Given the description of an element on the screen output the (x, y) to click on. 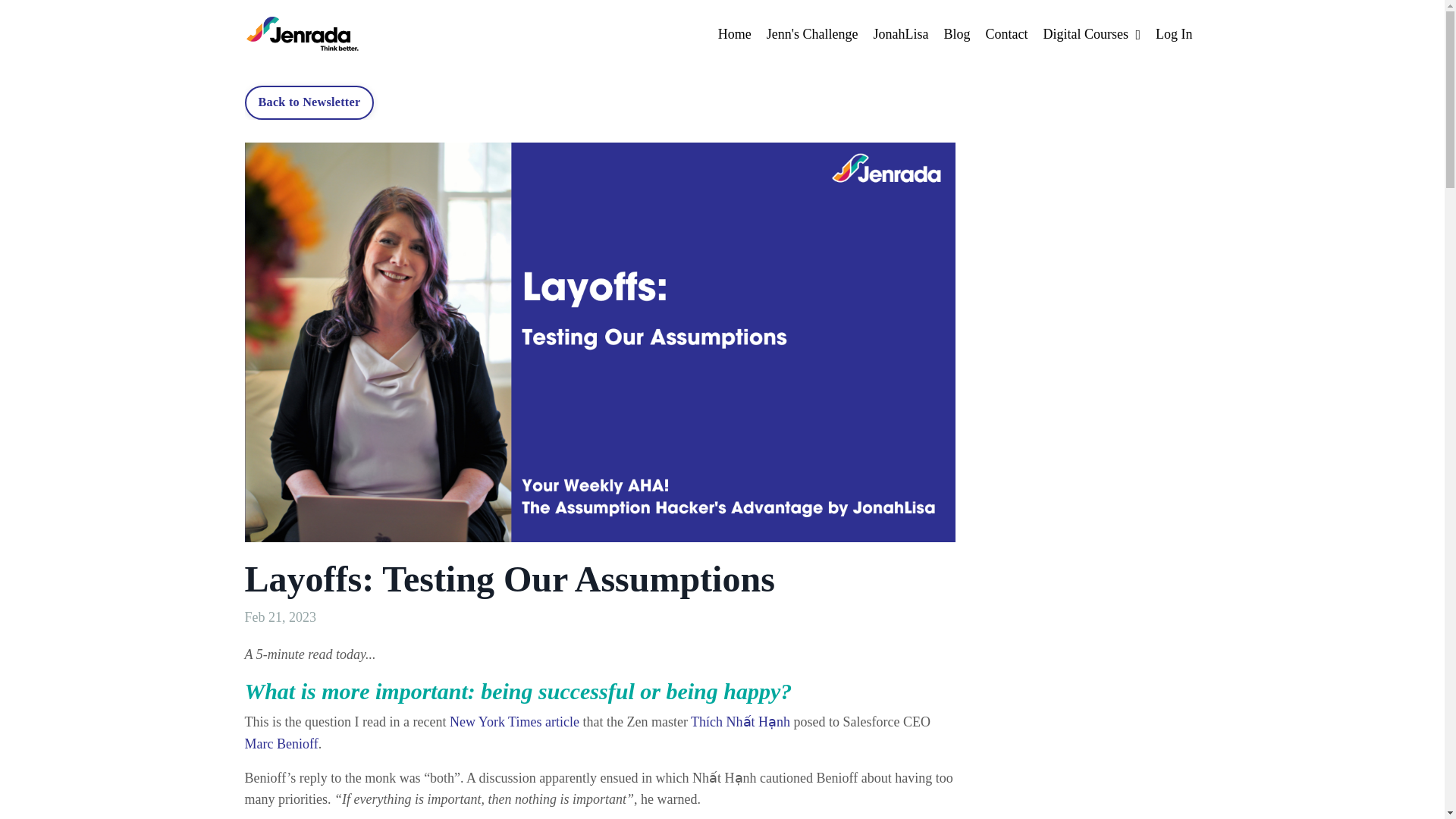
Blog (956, 34)
Log In (1174, 33)
Home (734, 34)
Back to Newsletter (309, 101)
Digital Courses (1091, 34)
Contact (1006, 34)
JonahLisa (900, 34)
Marc Benioff (280, 743)
Jenn's Challenge (813, 34)
New York Times article (514, 721)
